Given the description of an element on the screen output the (x, y) to click on. 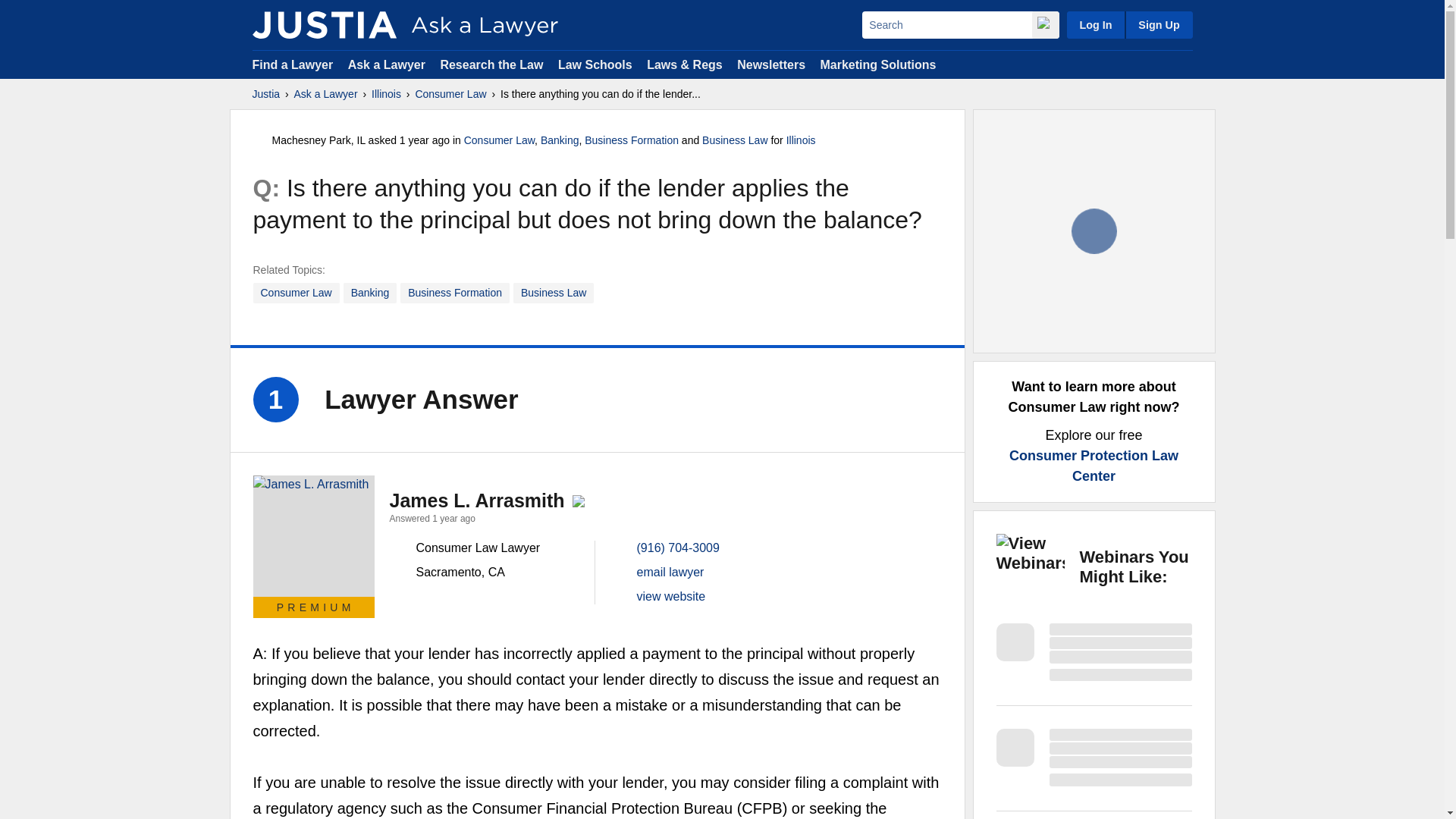
Business Law (734, 140)
Consumer Law (296, 292)
Justia (323, 24)
Business Formation (454, 292)
Justia (265, 93)
Sign Up (1158, 24)
Law Schools (594, 64)
Research the Law (491, 64)
Marketing Solutions (877, 64)
Log In (1094, 24)
Ask a Lawyer (388, 64)
Business Law (553, 292)
Consumer Law (450, 93)
Find a Lawyer (292, 64)
Ask a Lawyer (326, 93)
